Given the description of an element on the screen output the (x, y) to click on. 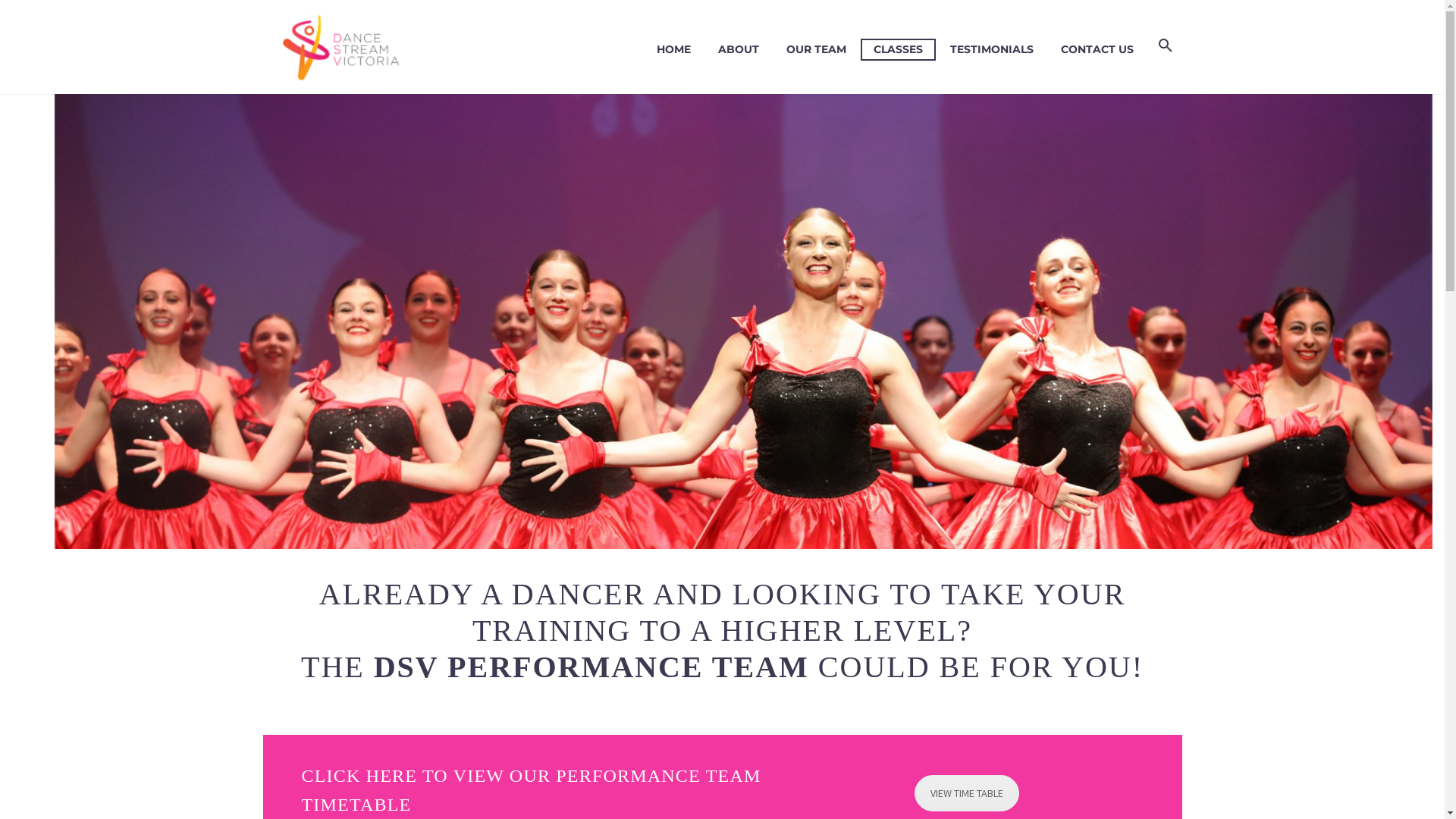
VIEW TIME TABLE Element type: text (966, 793)
TESTIMONIALS Element type: text (991, 49)
HOME Element type: text (672, 49)
CONTACT US Element type: text (1097, 49)
ABOUT Element type: text (738, 49)
OUR TEAM Element type: text (816, 49)
CLASSES Element type: text (897, 49)
